Given the description of an element on the screen output the (x, y) to click on. 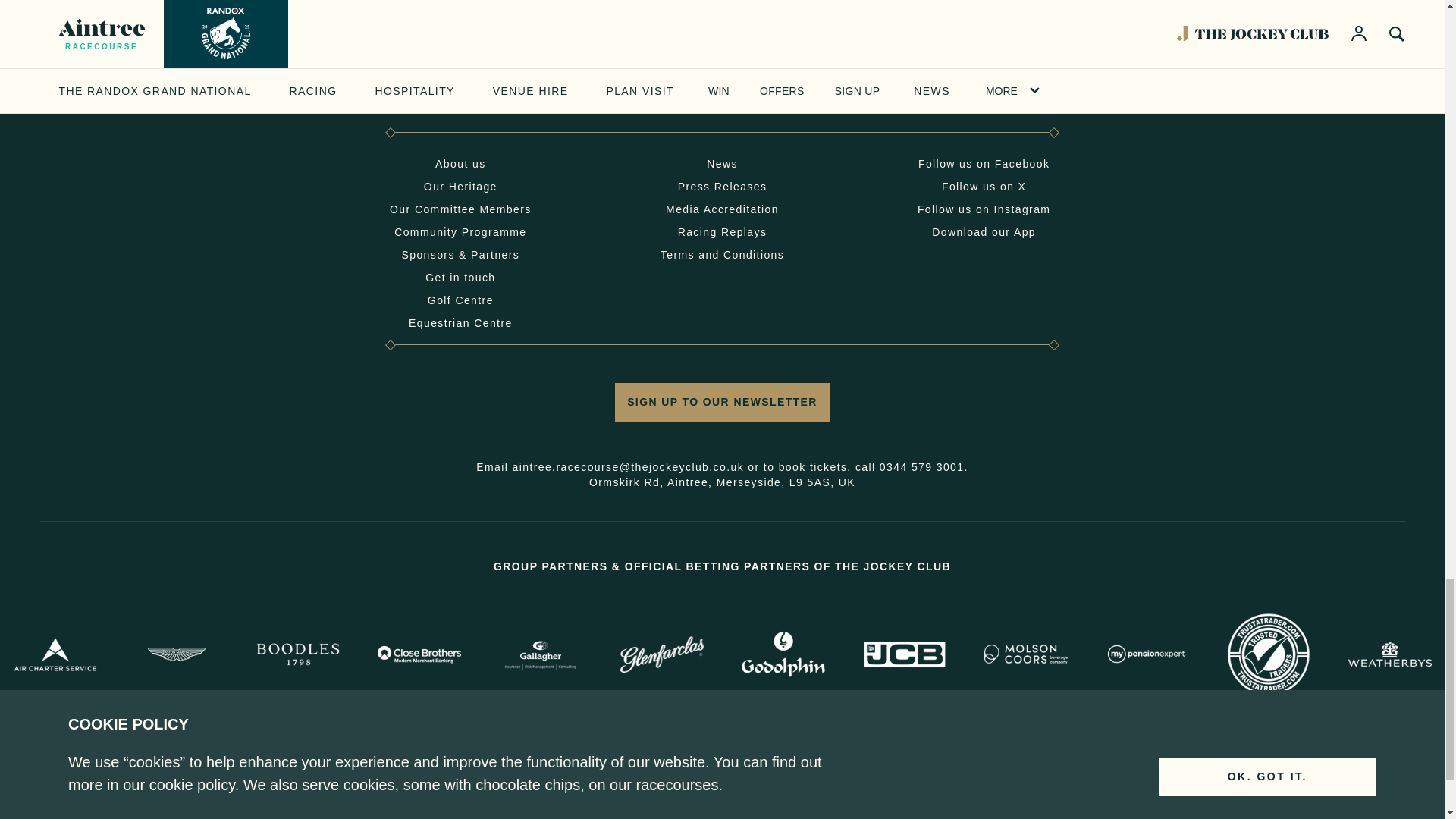
Close Brothers (419, 654)
TrustATrader (1268, 654)
Molson Coors (1025, 654)
Godolphin (783, 654)
Gallagher (540, 654)
Weatherbys (1389, 654)
